Given the description of an element on the screen output the (x, y) to click on. 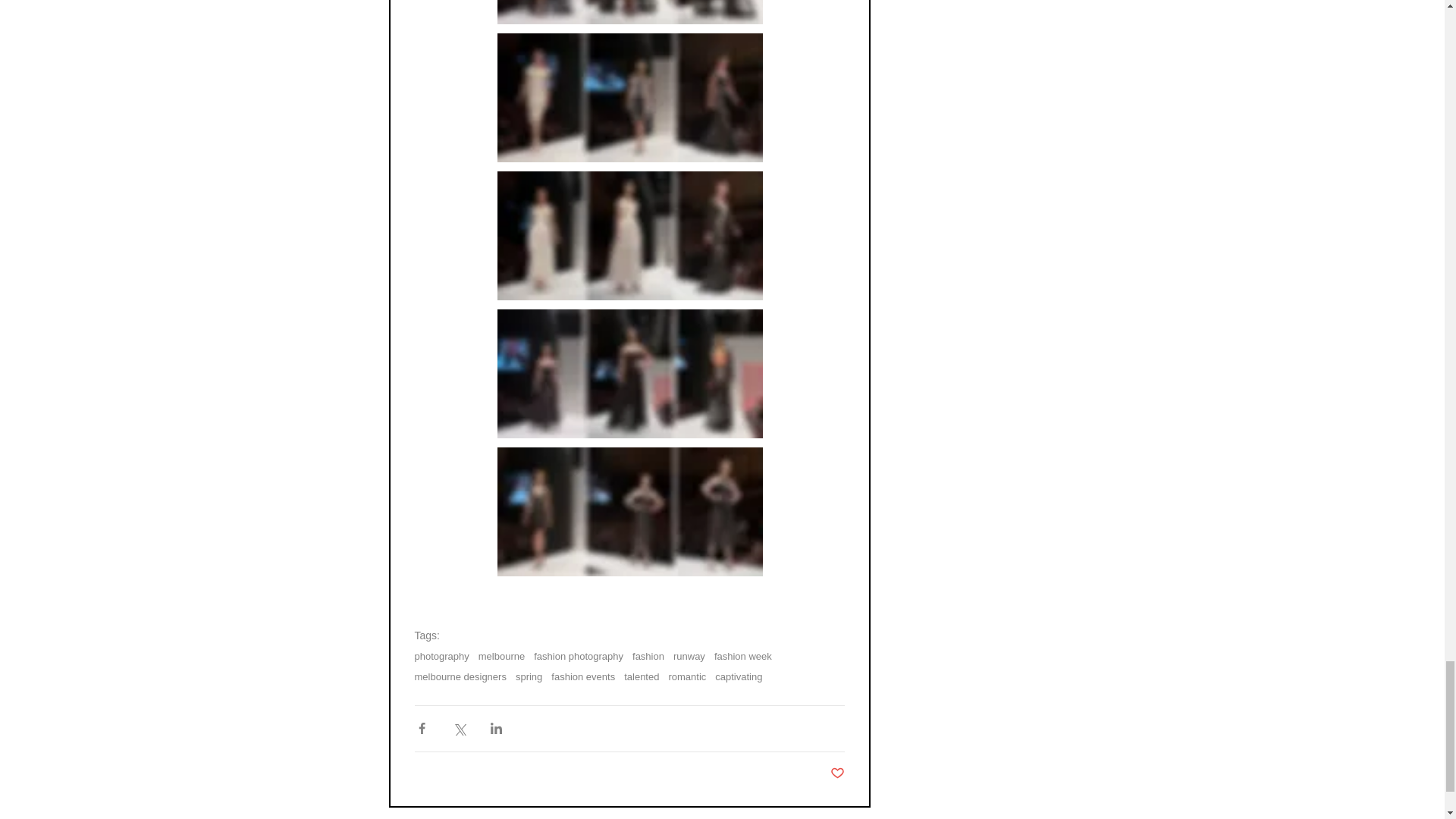
fashion photography (578, 655)
Post not marked as liked (836, 773)
runway (688, 655)
talented (641, 675)
melbourne (501, 655)
photography (440, 655)
spring (528, 675)
fashion week (742, 655)
fashion (647, 655)
romantic (687, 675)
fashion events (582, 675)
melbourne designers (459, 675)
captivating (737, 675)
